Given the description of an element on the screen output the (x, y) to click on. 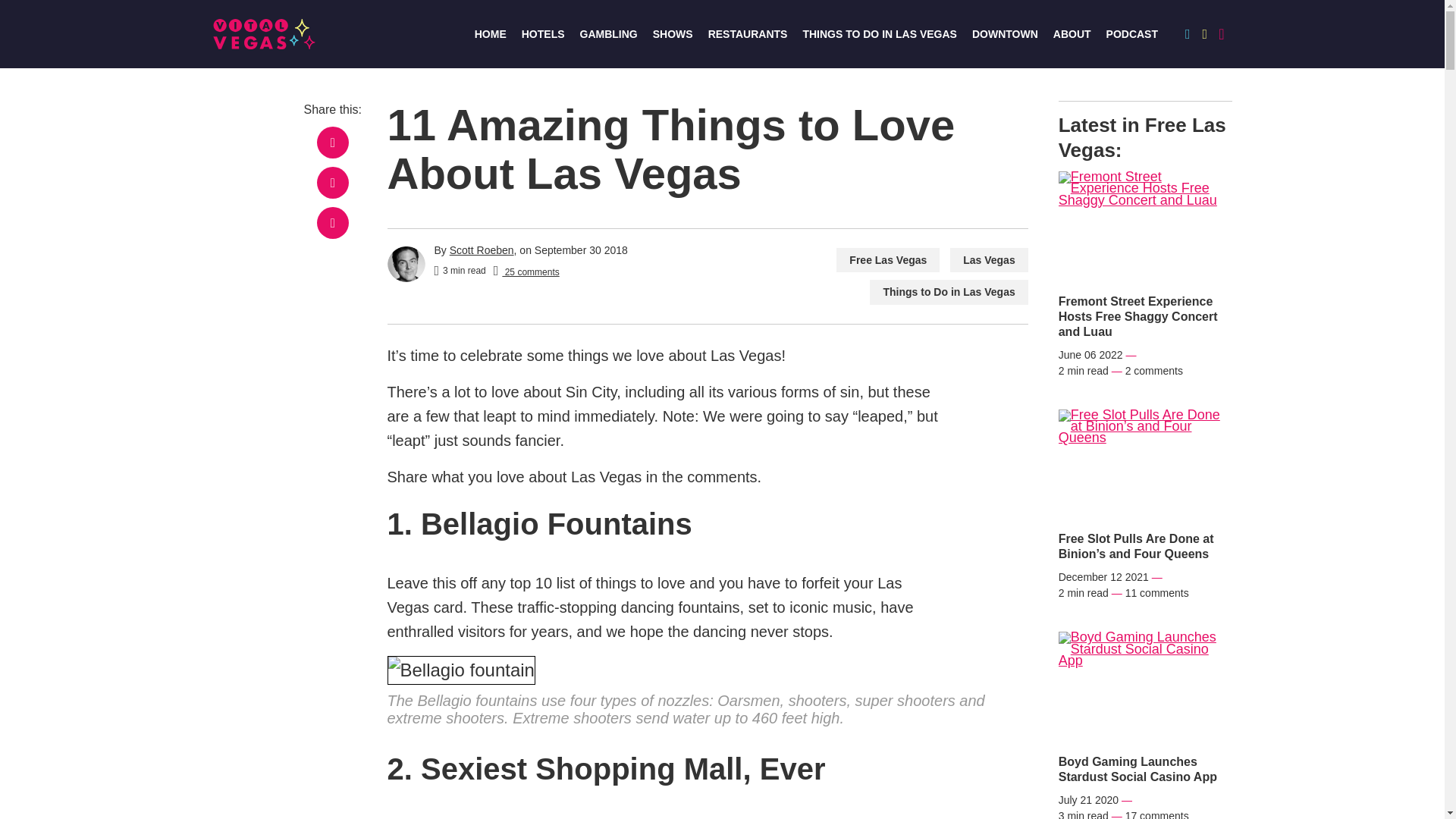
Free Las Vegas (887, 260)
GAMBLING (608, 33)
SHOWS (672, 33)
RESTAURANTS (747, 33)
25 comments (526, 271)
ABOUT (1071, 33)
HOME (490, 33)
DOWNTOWN (1005, 33)
Fremont Street Experience Hosts Free Shaggy Concert and Luau (1144, 316)
Things to Do in Las Vegas (948, 292)
